Given the description of an element on the screen output the (x, y) to click on. 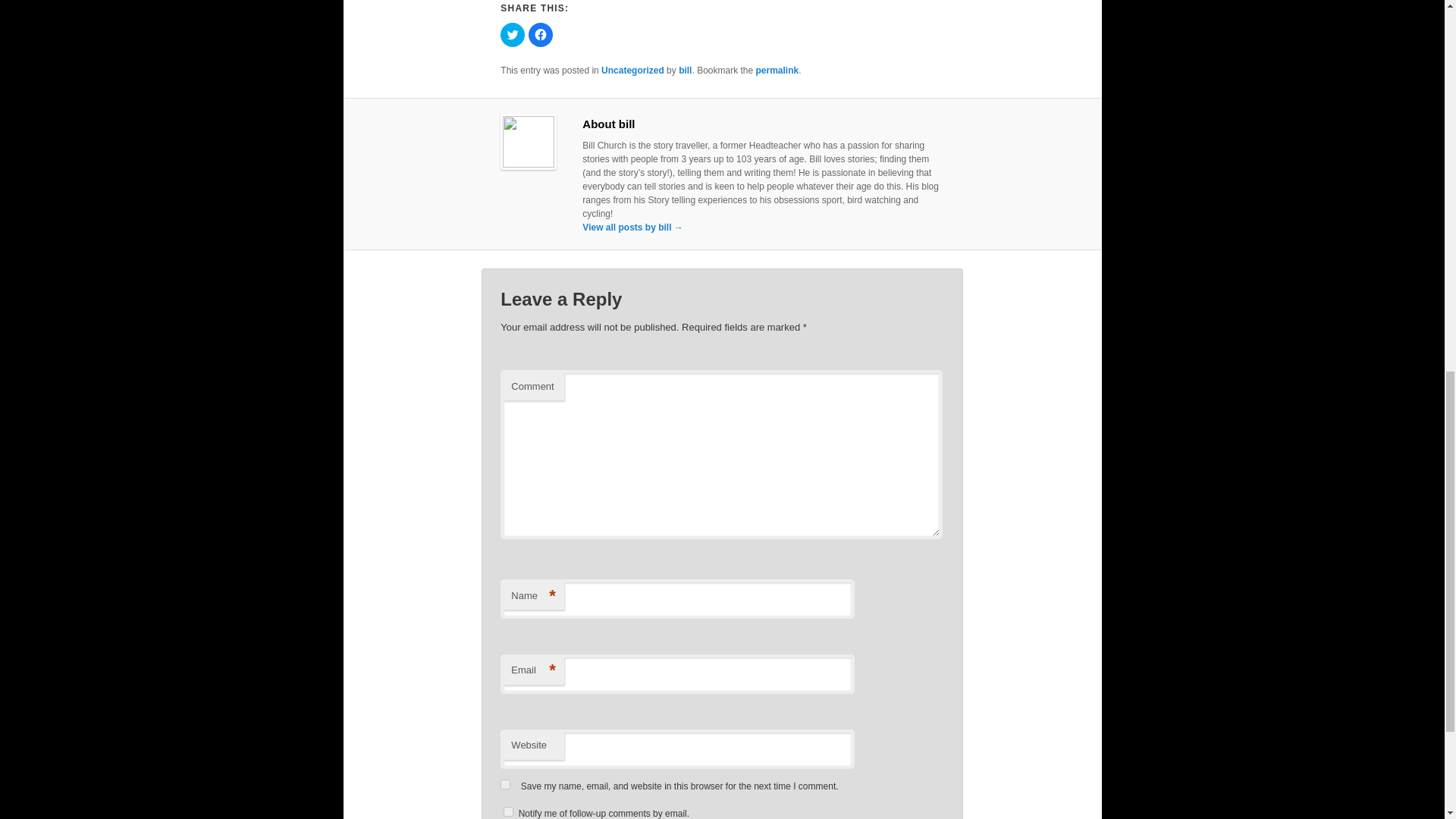
subscribe (508, 811)
yes (505, 784)
Uncategorized (632, 70)
Permalink to Wickets, Wickets and Wickets!!!!!! (777, 70)
Click to share on Facebook (540, 34)
bill (684, 70)
permalink (777, 70)
Click to share on Twitter (512, 34)
